Given the description of an element on the screen output the (x, y) to click on. 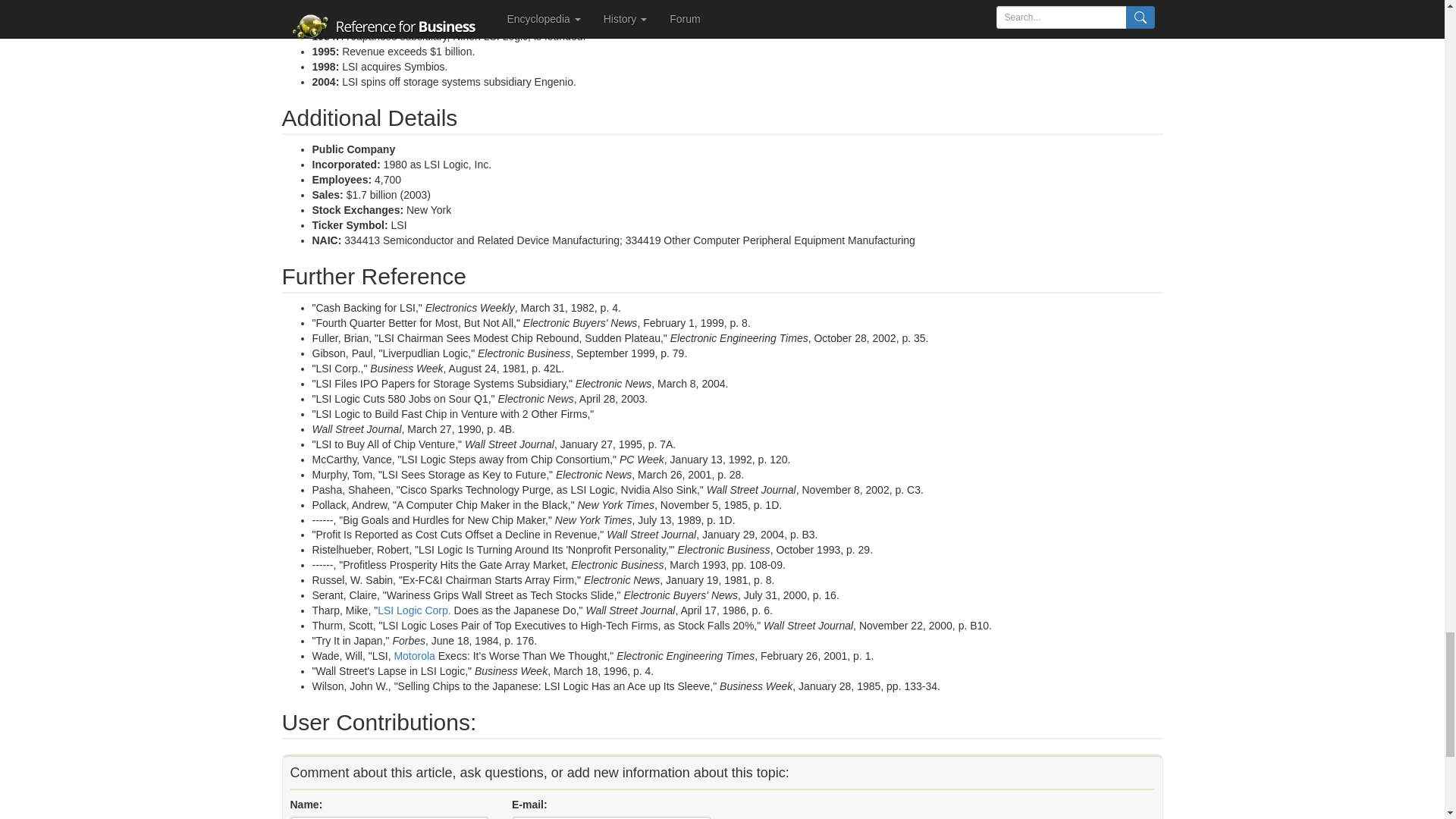
Motorola (413, 655)
LSI Logic Corp. (414, 610)
View 'motorola' definition from Wikipedia (413, 655)
View 'lsi logic corp.' definition from Wikipedia (414, 610)
